Given the description of an element on the screen output the (x, y) to click on. 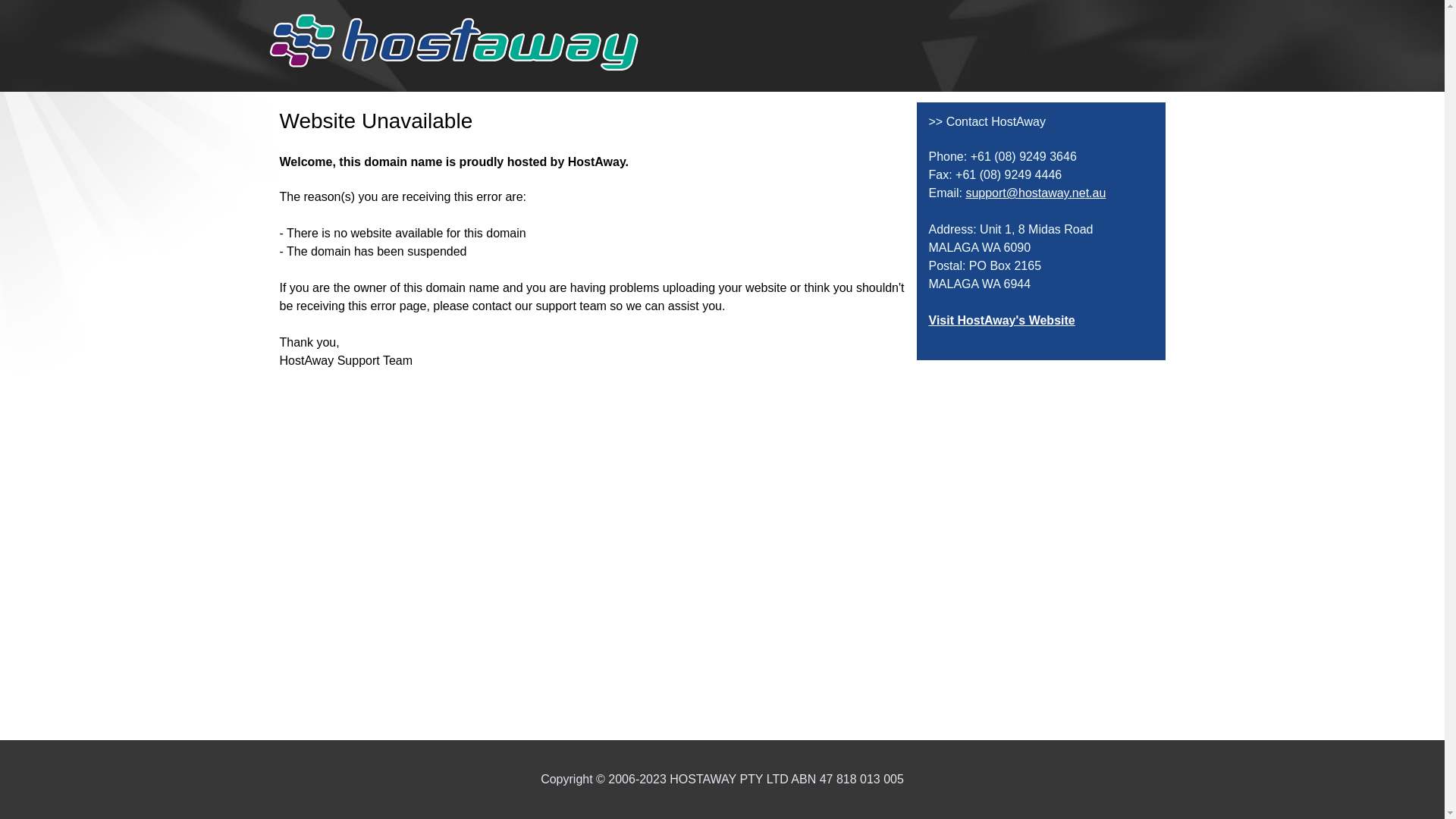
support@hostaway.net.au Element type: text (1035, 192)
Visit HostAway's Website Element type: text (1001, 319)
